Given the description of an element on the screen output the (x, y) to click on. 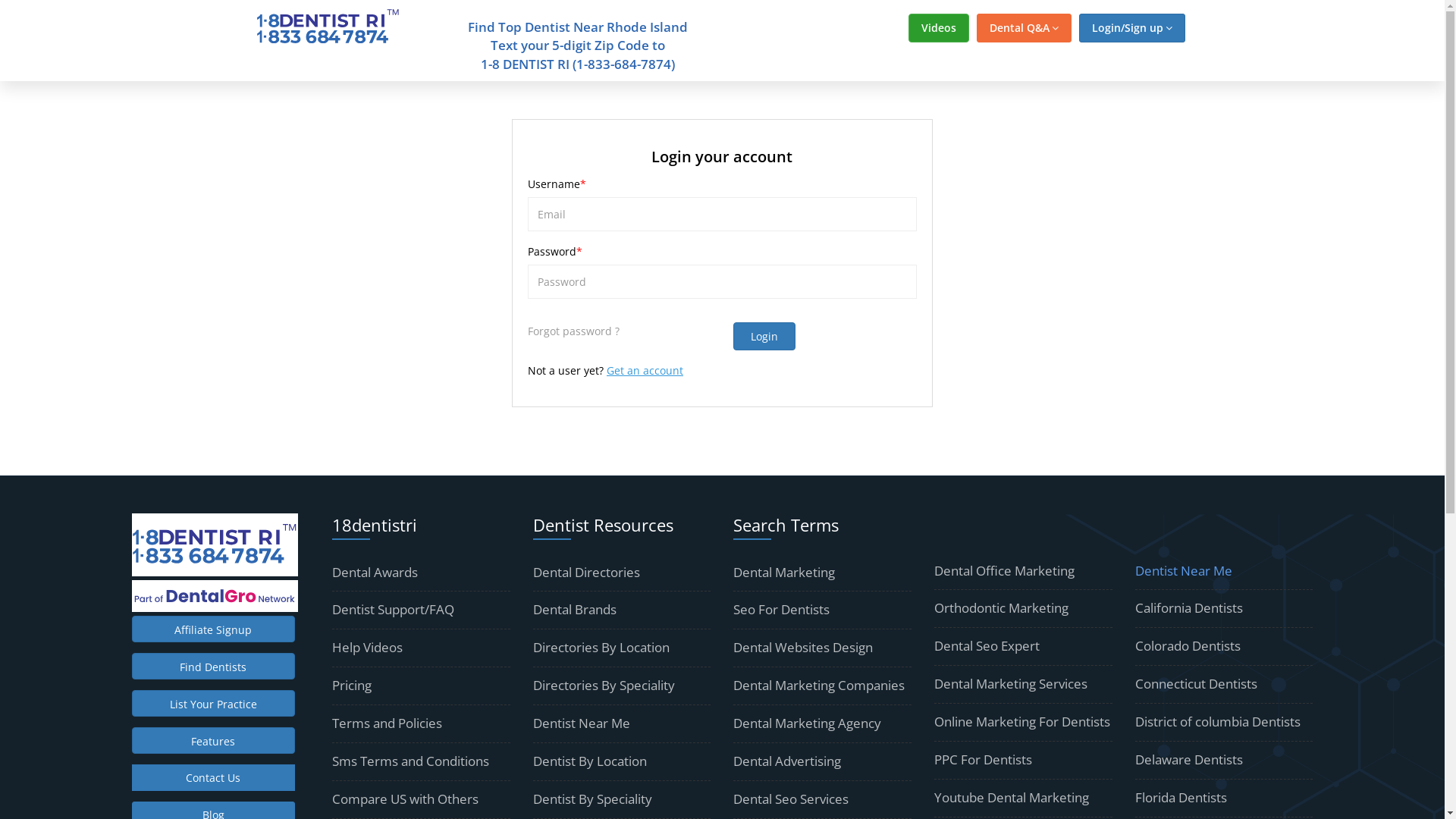
Dental Q&A Element type: text (1023, 27)
Dental Directories Element type: text (586, 571)
Colorado Dentists Element type: text (1187, 645)
Directories By Speciality Element type: text (603, 684)
Features Element type: text (212, 740)
Seo For Dentists Element type: text (781, 609)
Florida Dentists Element type: text (1180, 797)
Online Marketing For Dentists Element type: text (1022, 721)
Find Dentists Element type: text (212, 665)
California Dentists Element type: text (1188, 607)
District of columbia Dentists Element type: text (1217, 721)
Youtube Dental Marketing Element type: text (1011, 797)
Dental Marketing Element type: text (783, 571)
Forgot password ? Element type: text (573, 330)
Affiliate Signup Element type: text (212, 628)
PPC For Dentists Element type: text (983, 759)
Sms Terms and Conditions Element type: text (410, 760)
Directories By Location Element type: text (601, 646)
Dental Marketing Companies Element type: text (818, 684)
Dentist Near Me Element type: text (581, 722)
Videos Element type: text (938, 27)
Pricing Element type: text (351, 684)
Dental Brands Element type: text (574, 609)
Dental Office Marketing Element type: text (1004, 570)
Dental Marketing Services Element type: text (1010, 683)
Dentist Near Me Element type: text (1183, 570)
Login/Sign up Element type: text (1131, 27)
Connecticut Dentists Element type: text (1196, 683)
Dental Marketing Agency Element type: text (807, 722)
Dental Advertising Element type: text (786, 760)
Dental Seo Expert Element type: text (986, 645)
List Your Practice Element type: text (212, 703)
Dental Awards Element type: text (374, 571)
Dental Websites Design Element type: text (802, 646)
Terms and Policies Element type: text (387, 722)
Dentist Support/FAQ Element type: text (393, 609)
Login Element type: text (764, 336)
Orthodontic Marketing Element type: text (1001, 607)
Dental Seo Services Element type: text (790, 798)
Compare US with Others Element type: text (405, 798)
Help Videos Element type: text (367, 646)
Get an account Element type: text (644, 370)
Dentist By Speciality Element type: text (592, 798)
Delaware Dentists Element type: text (1188, 759)
Dentist By Location Element type: text (589, 760)
Contact Us Element type: text (212, 777)
